Given the description of an element on the screen output the (x, y) to click on. 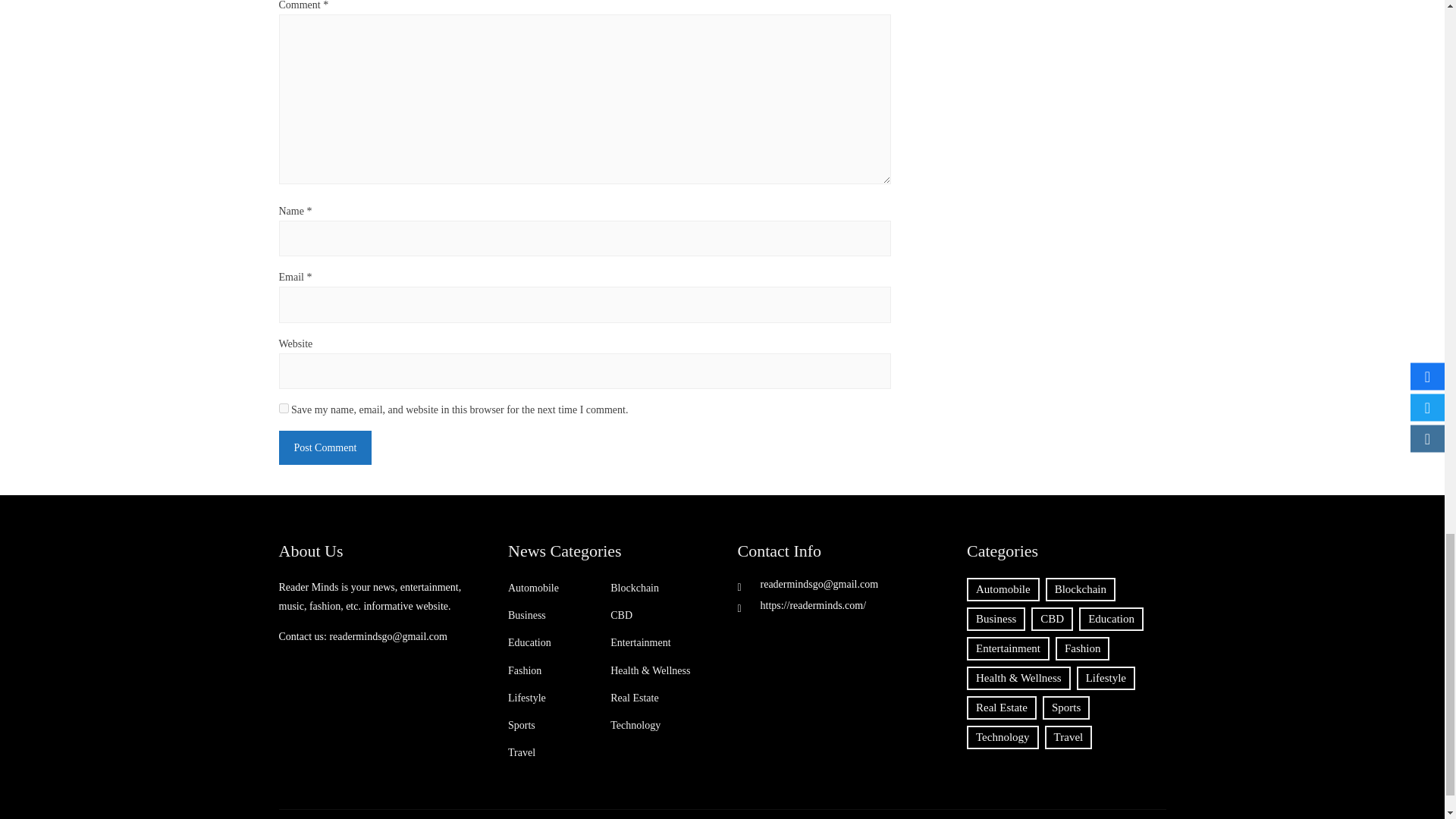
yes (283, 408)
Post Comment (325, 447)
Post Comment (325, 447)
